Given the description of an element on the screen output the (x, y) to click on. 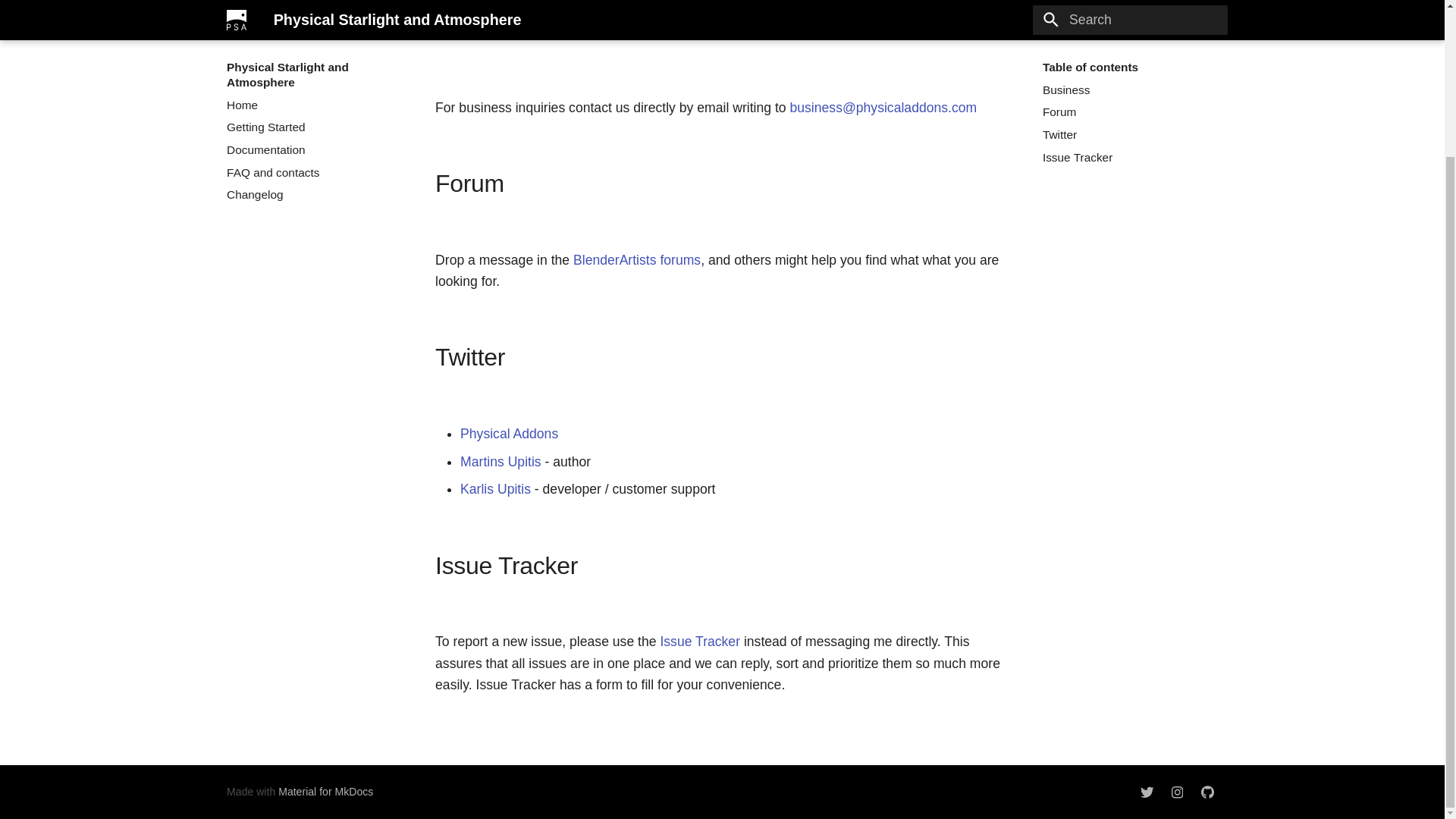
twitter.com (1147, 791)
Karlis Upitis (495, 488)
Changelog (314, 36)
Material for MkDocs (325, 791)
BlenderArtists forums (636, 259)
Issue Tracker (699, 641)
Issue Tracker (1129, 3)
Martins Upitis (500, 461)
www.instagram.com (1177, 791)
Physical Addons (508, 433)
github.com (1207, 791)
FAQ and contacts (314, 14)
